Given the description of an element on the screen output the (x, y) to click on. 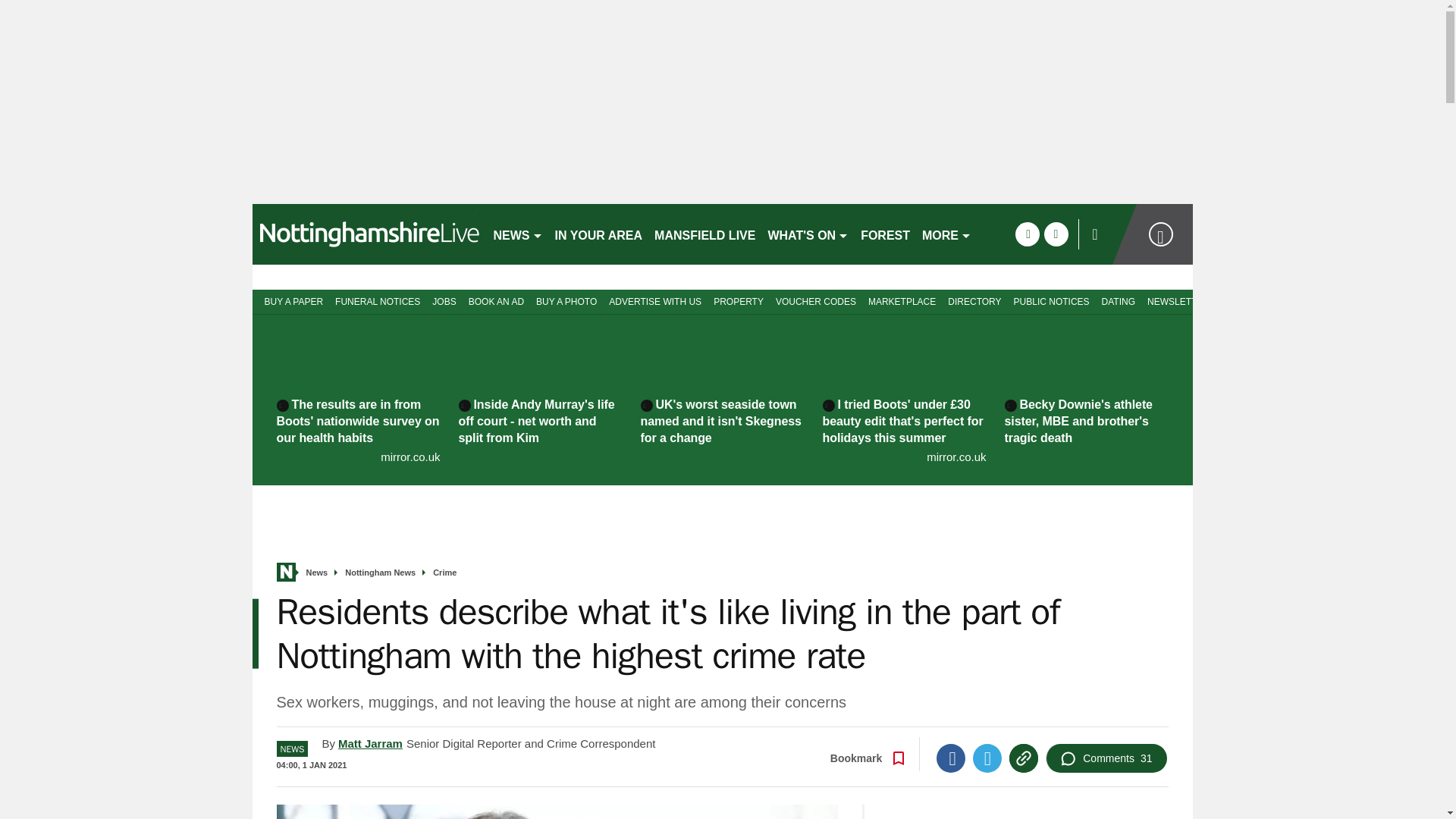
FOREST (884, 233)
IN YOUR AREA (598, 233)
MORE (945, 233)
Facebook (950, 758)
WHAT'S ON (807, 233)
twitter (1055, 233)
MANSFIELD LIVE (704, 233)
nottinghampost (365, 233)
Comments (1105, 758)
facebook (1026, 233)
Twitter (986, 758)
NEWS (517, 233)
